Given the description of an element on the screen output the (x, y) to click on. 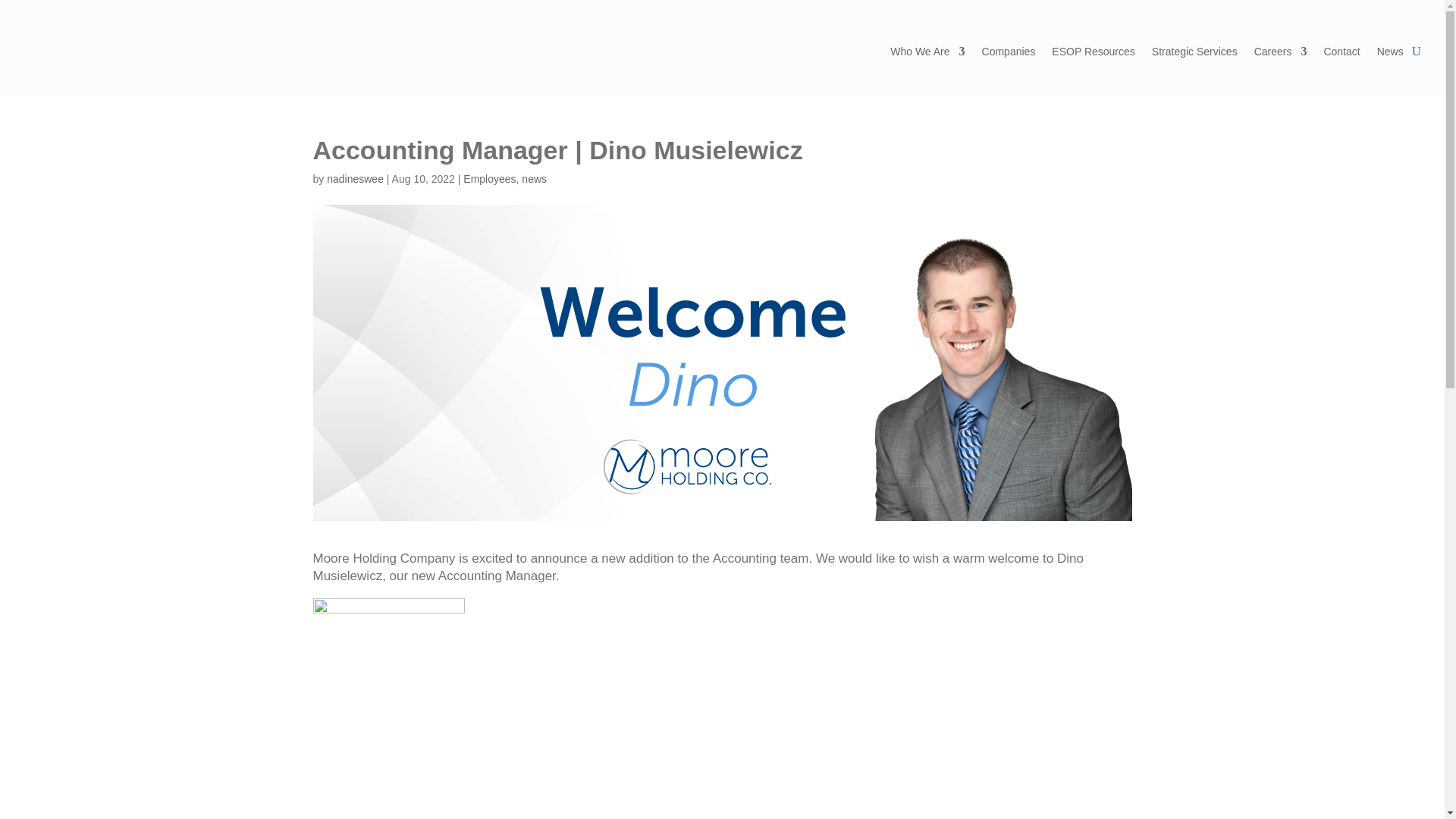
Companies (1008, 51)
Careers (1280, 51)
Posts by nadineswee (355, 178)
Strategic Services (1194, 51)
ESOP Resources (1092, 51)
Who We Are (926, 51)
